Given the description of an element on the screen output the (x, y) to click on. 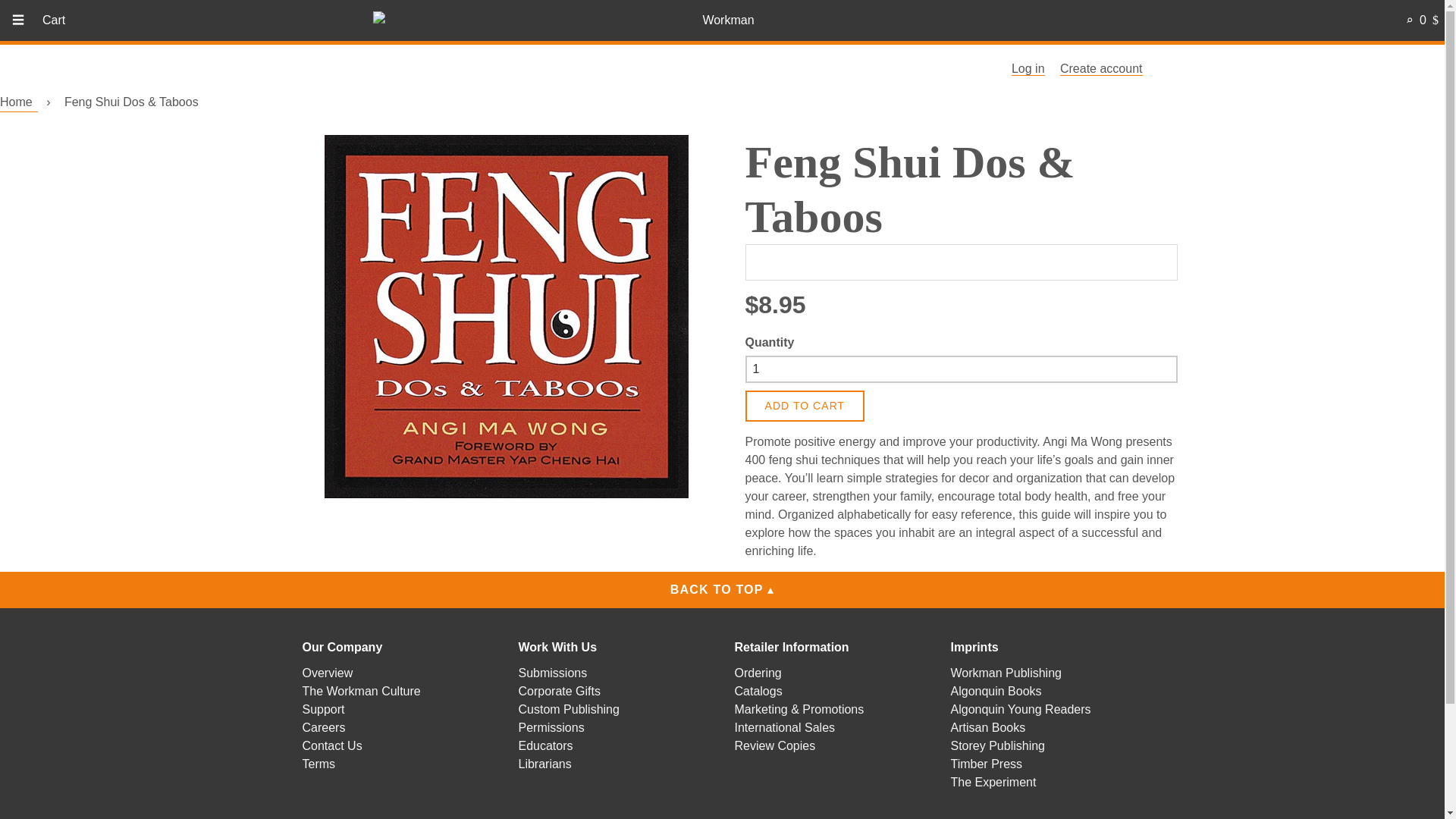
Work With Us (557, 646)
Librarians (545, 763)
Log in (1028, 69)
Cart (53, 19)
Imprints (974, 646)
Home (18, 102)
Algonquin Books (996, 690)
Review Copies (774, 745)
International Sales (783, 727)
Terms (317, 763)
Custom Publishing (569, 708)
Create account (1100, 69)
Back to the frontpage (18, 102)
Submissions (553, 672)
Support (322, 708)
